Given the description of an element on the screen output the (x, y) to click on. 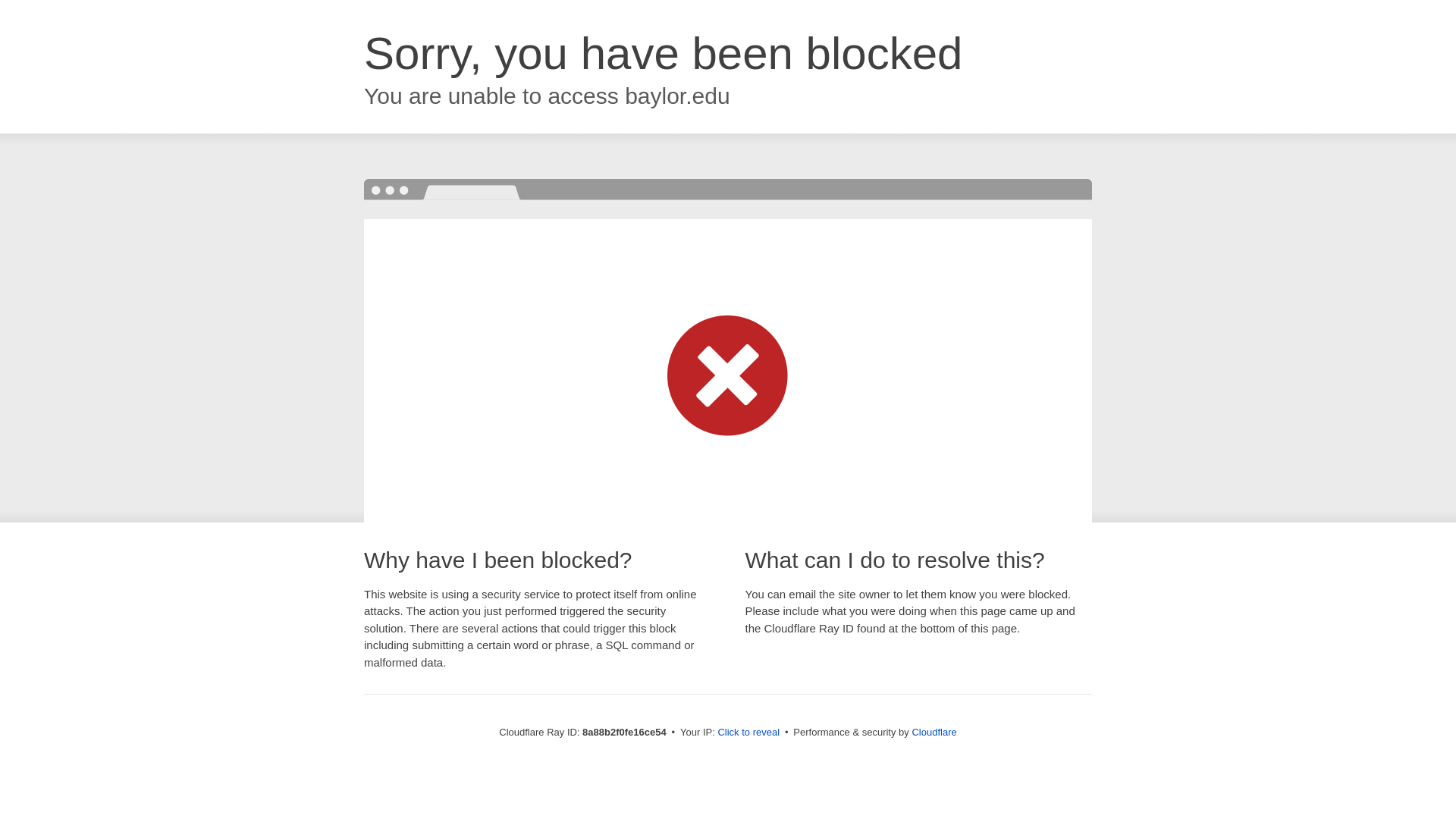
Cloudflare (933, 731)
Click to reveal (747, 732)
